Given the description of an element on the screen output the (x, y) to click on. 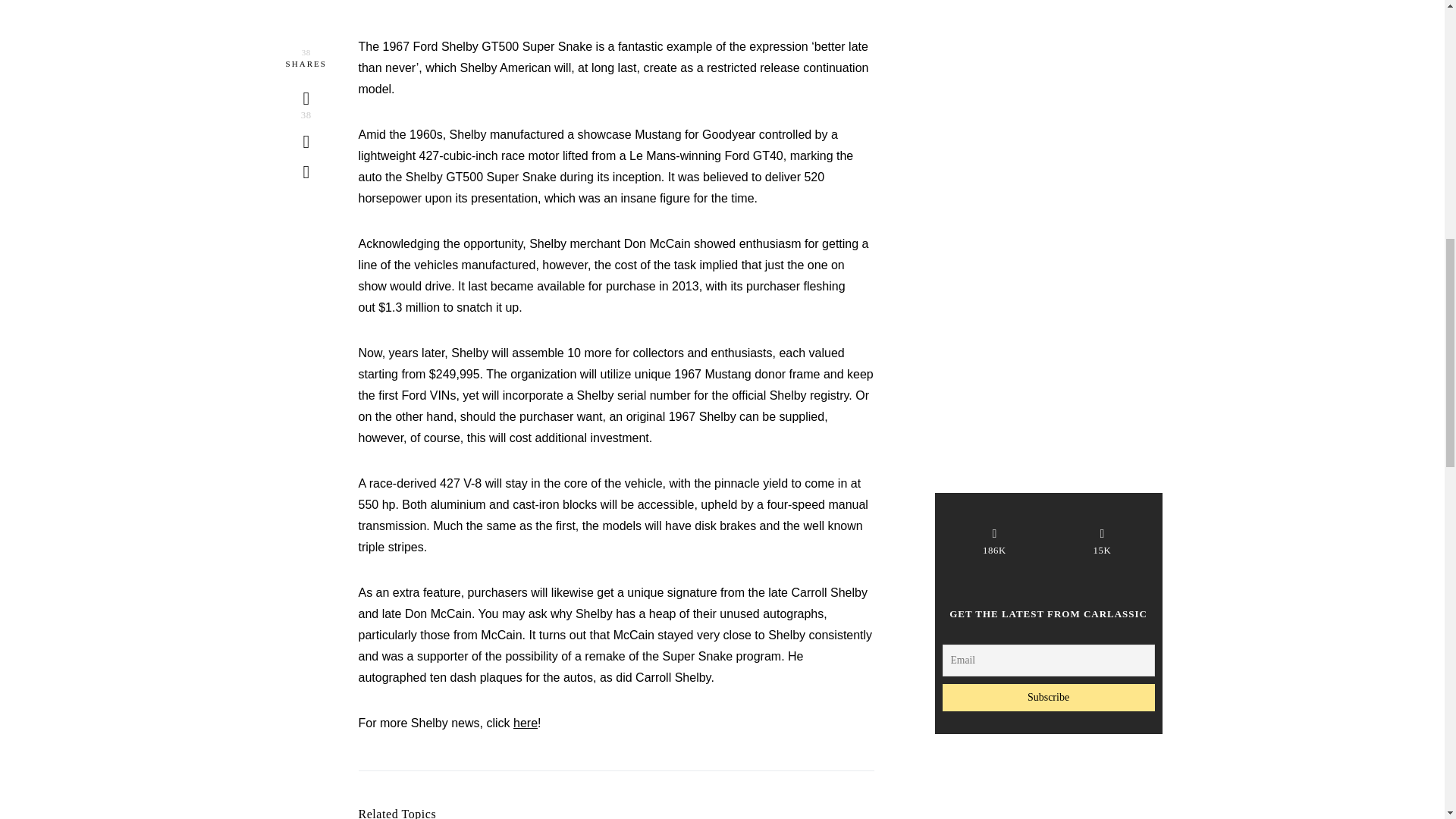
38 (306, 95)
Subscribe (1048, 289)
